Given the description of an element on the screen output the (x, y) to click on. 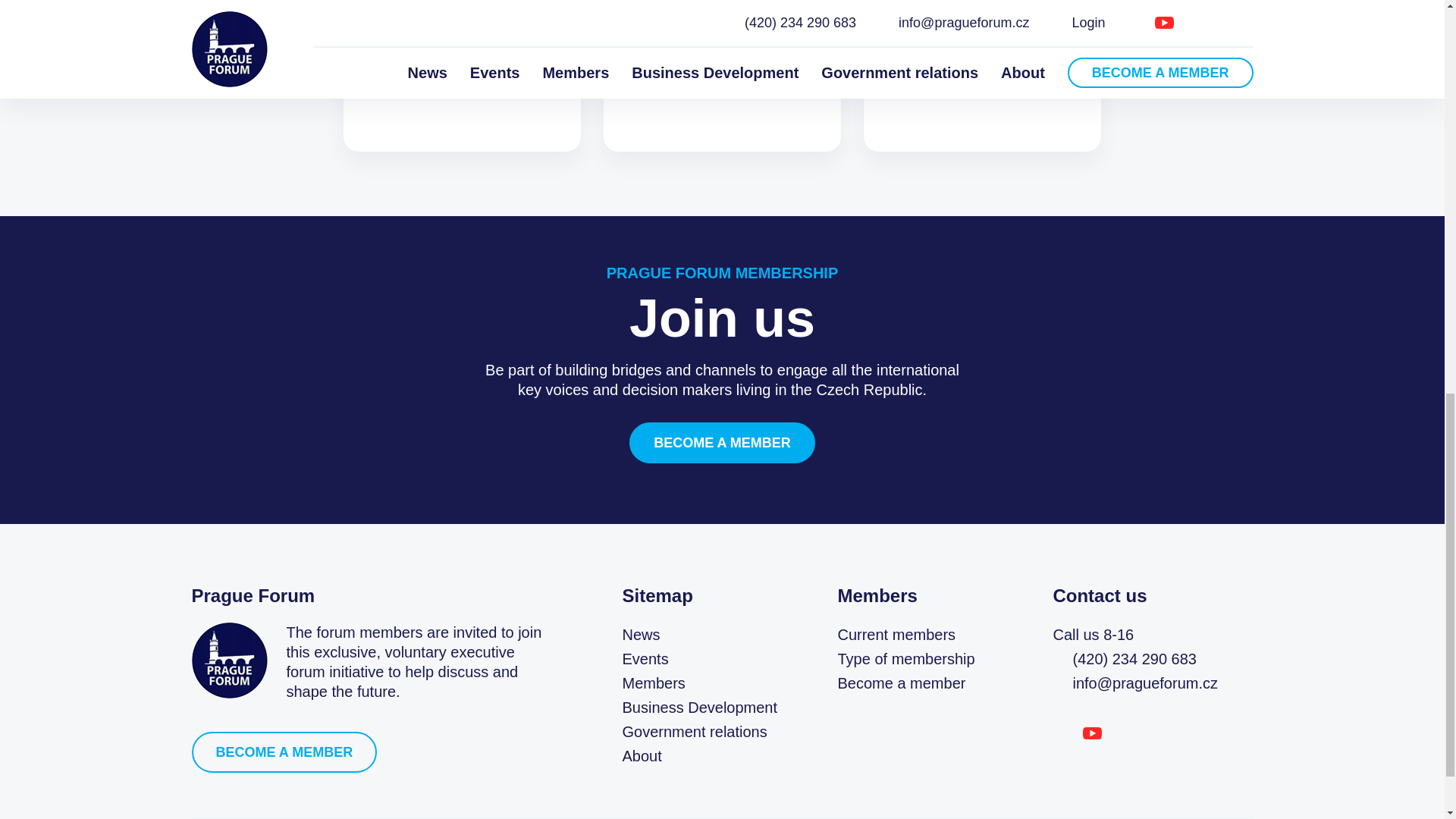
Members (652, 682)
BECOME A MEMBER (721, 442)
Call us 8-16 (1141, 634)
Events (644, 658)
Government relations (694, 731)
Become a member (901, 682)
Prague Forum (228, 660)
Current members (896, 634)
About (641, 755)
Business Development (699, 707)
Type of membership (905, 658)
BECOME A MEMBER (283, 752)
News (640, 634)
